Given the description of an element on the screen output the (x, y) to click on. 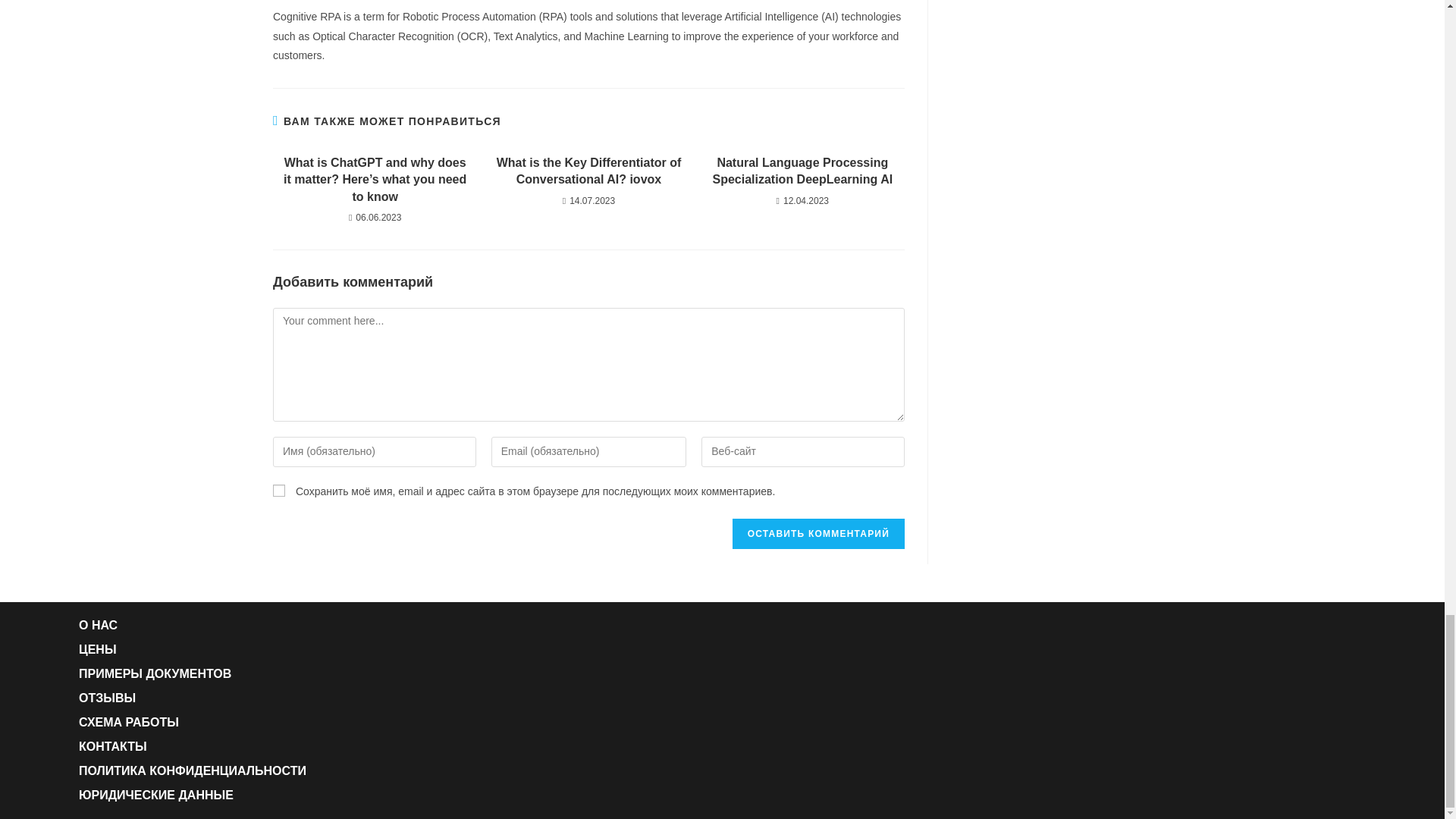
What is the Key Differentiator of Conversational AI? iovox (588, 171)
yes (279, 490)
Natural Language Processing Specialization DeepLearning AI (802, 171)
